Given the description of an element on the screen output the (x, y) to click on. 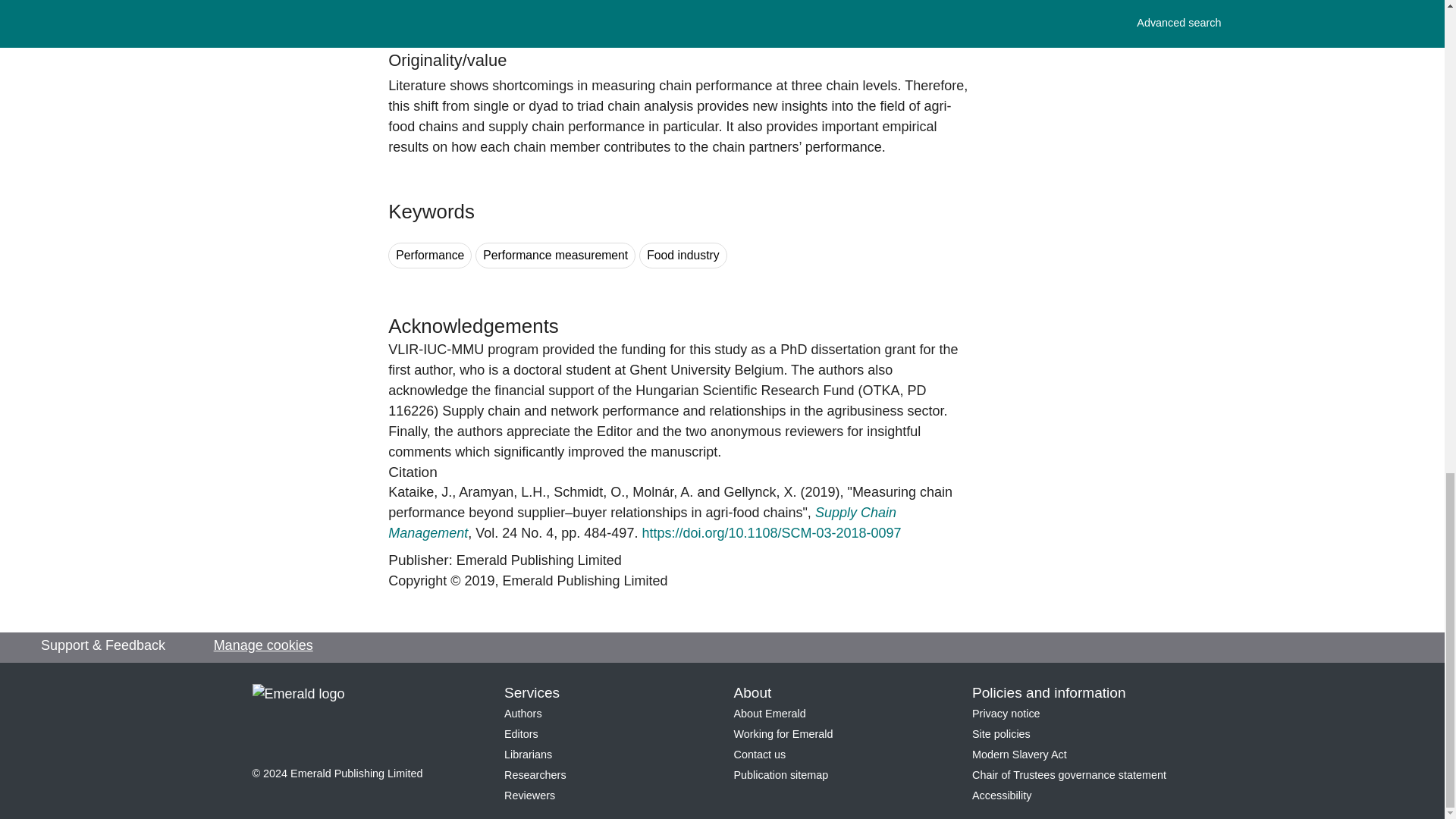
Oliver Schmidt (588, 491)
Librarians (527, 754)
Joanita Kataike (419, 491)
Xavier Gellynck (759, 491)
Editors (520, 734)
Manage cookies (263, 645)
Search for keyword Food industry (682, 255)
Supply Chain Management (642, 522)
Lusine H. Aramyan (502, 491)
Search for keyword Performance measurement (555, 255)
